Given the description of an element on the screen output the (x, y) to click on. 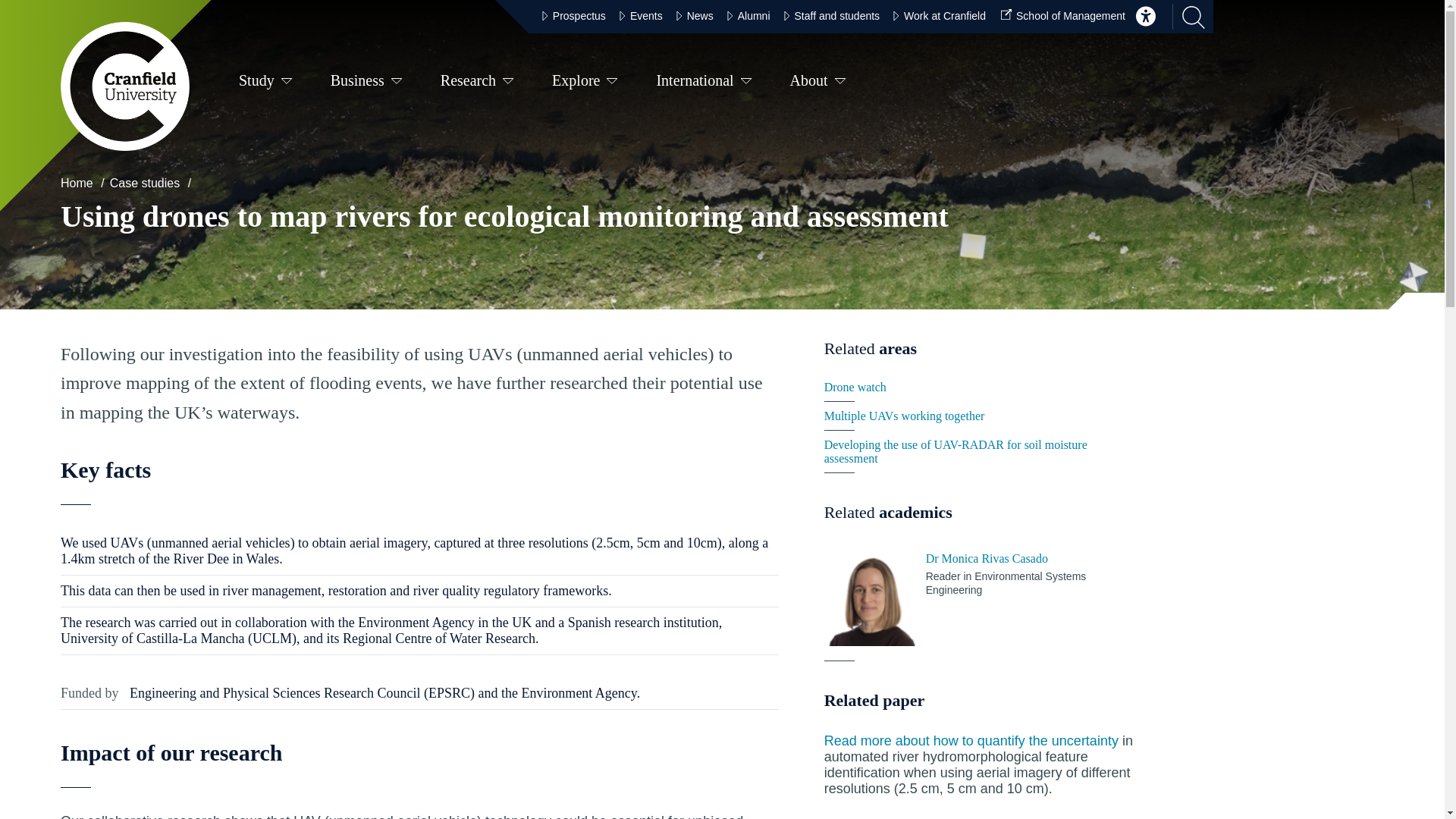
Open Search Bar (1188, 16)
Article page (971, 740)
Study (265, 83)
Return to Cranfield University Home (125, 86)
